Given the description of an element on the screen output the (x, y) to click on. 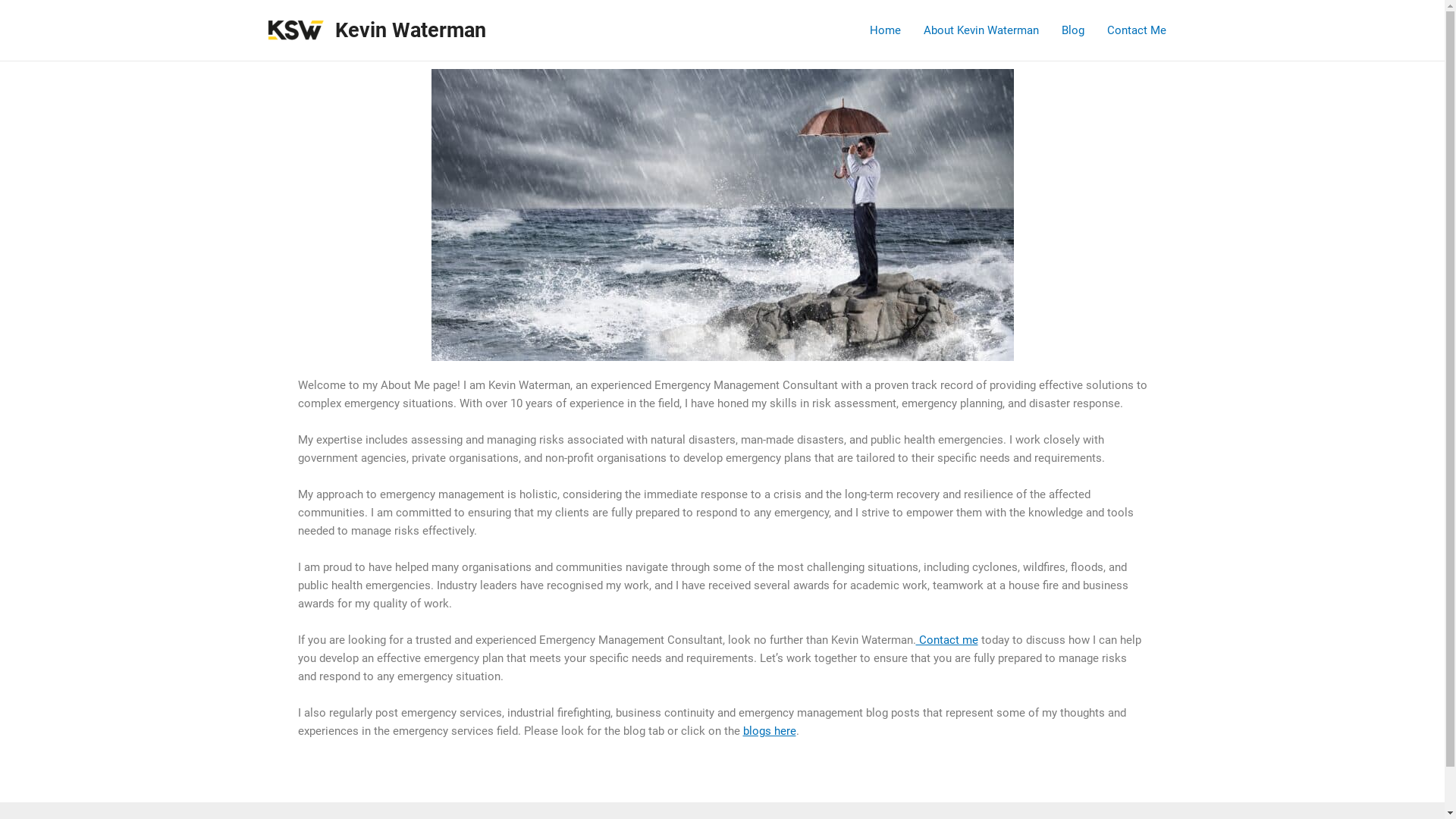
Home Element type: text (885, 30)
Blog Element type: text (1072, 30)
blogs here Element type: text (769, 730)
Contact Me Element type: text (1135, 30)
Contact me Element type: text (947, 639)
Kevin Waterman Element type: text (410, 30)
About Kevin Waterman Element type: text (980, 30)
